Given the description of an element on the screen output the (x, y) to click on. 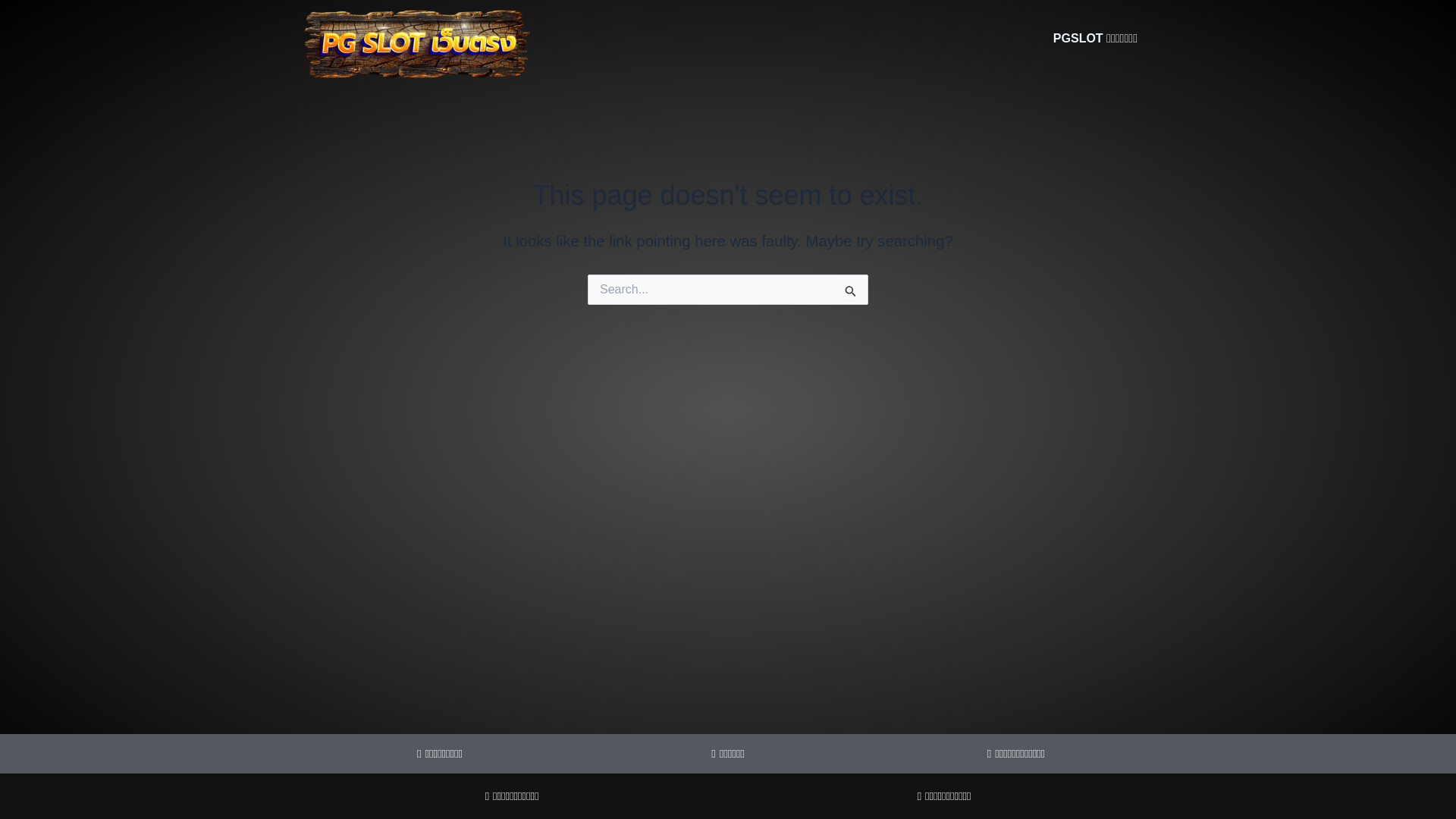
Search (850, 290)
Search (850, 290)
Search (850, 290)
